Given the description of an element on the screen output the (x, y) to click on. 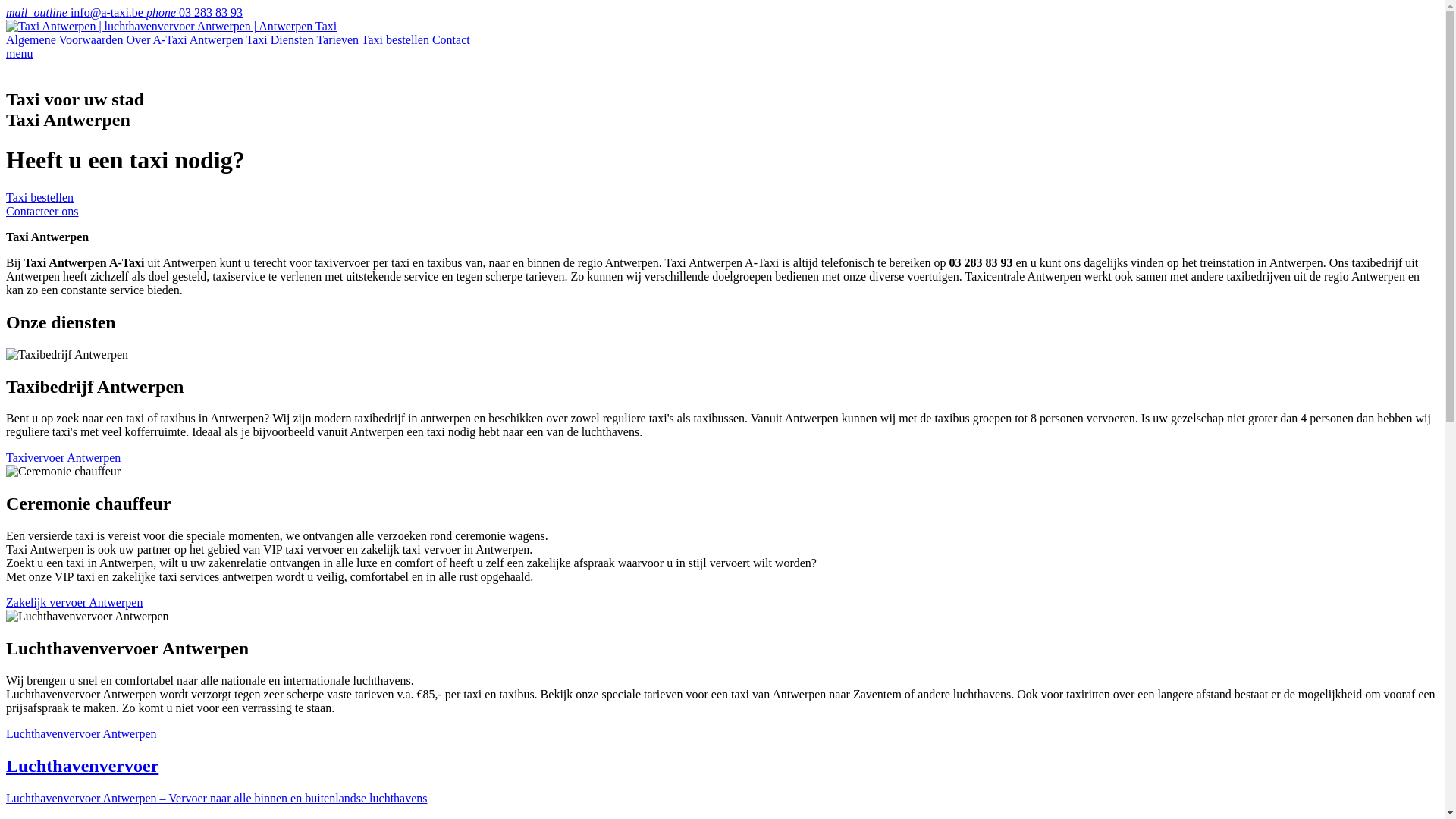
Zakelijk vervoer Antwerpen Element type: text (74, 602)
Contacteer ons Element type: text (42, 210)
mail_outline info@a-taxi.be Element type: text (76, 12)
menu Element type: text (19, 53)
Taxivervoer Antwerpen Element type: text (63, 457)
Tarieven Element type: text (337, 39)
Contact Element type: text (451, 39)
Luchthavenvervoer Antwerpen Element type: text (81, 733)
Algemene Voorwaarden Element type: text (64, 39)
phone 03 283 83 93 Element type: text (194, 12)
Taxi bestellen Element type: text (395, 39)
Taxi Diensten Element type: text (279, 39)
Over A-Taxi Antwerpen Element type: text (183, 39)
Taxi bestellen Element type: text (39, 197)
